Given the description of an element on the screen output the (x, y) to click on. 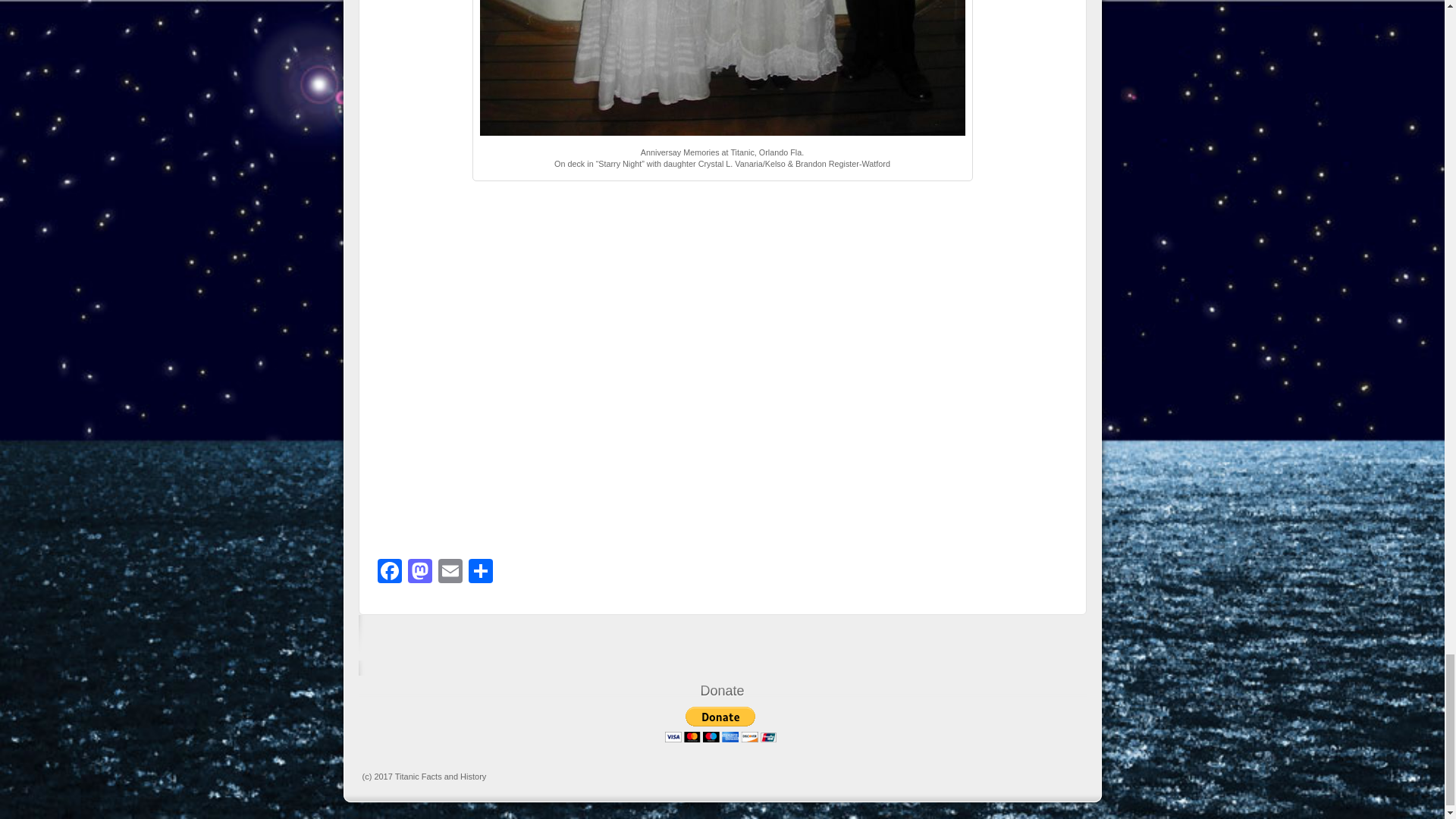
Share (480, 572)
Mastodon (419, 572)
Facebook (389, 572)
Email (450, 572)
Mastodon (419, 572)
Facebook (389, 572)
Email (450, 572)
